Given the description of an element on the screen output the (x, y) to click on. 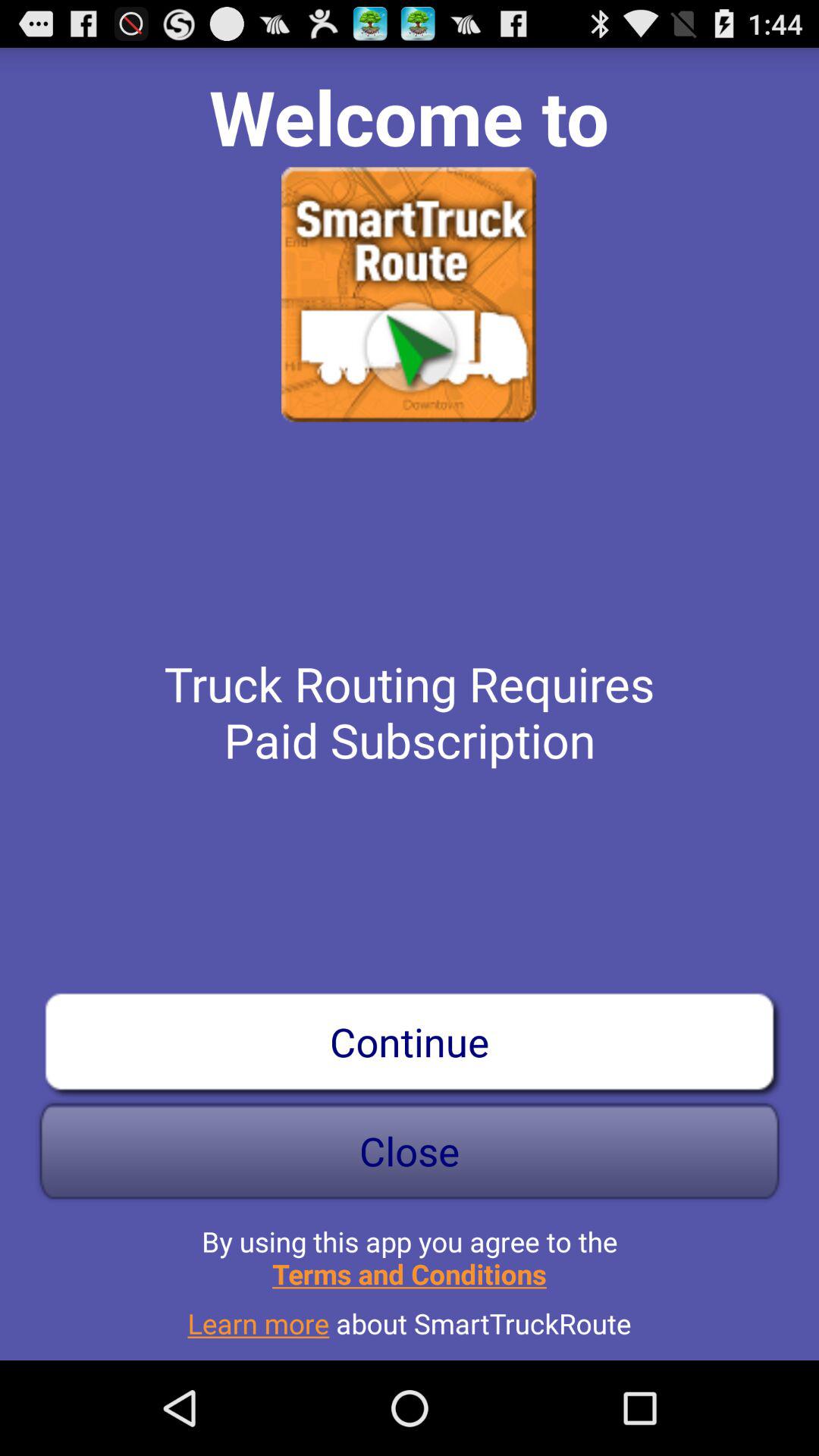
scroll to the continue (409, 1041)
